Given the description of an element on the screen output the (x, y) to click on. 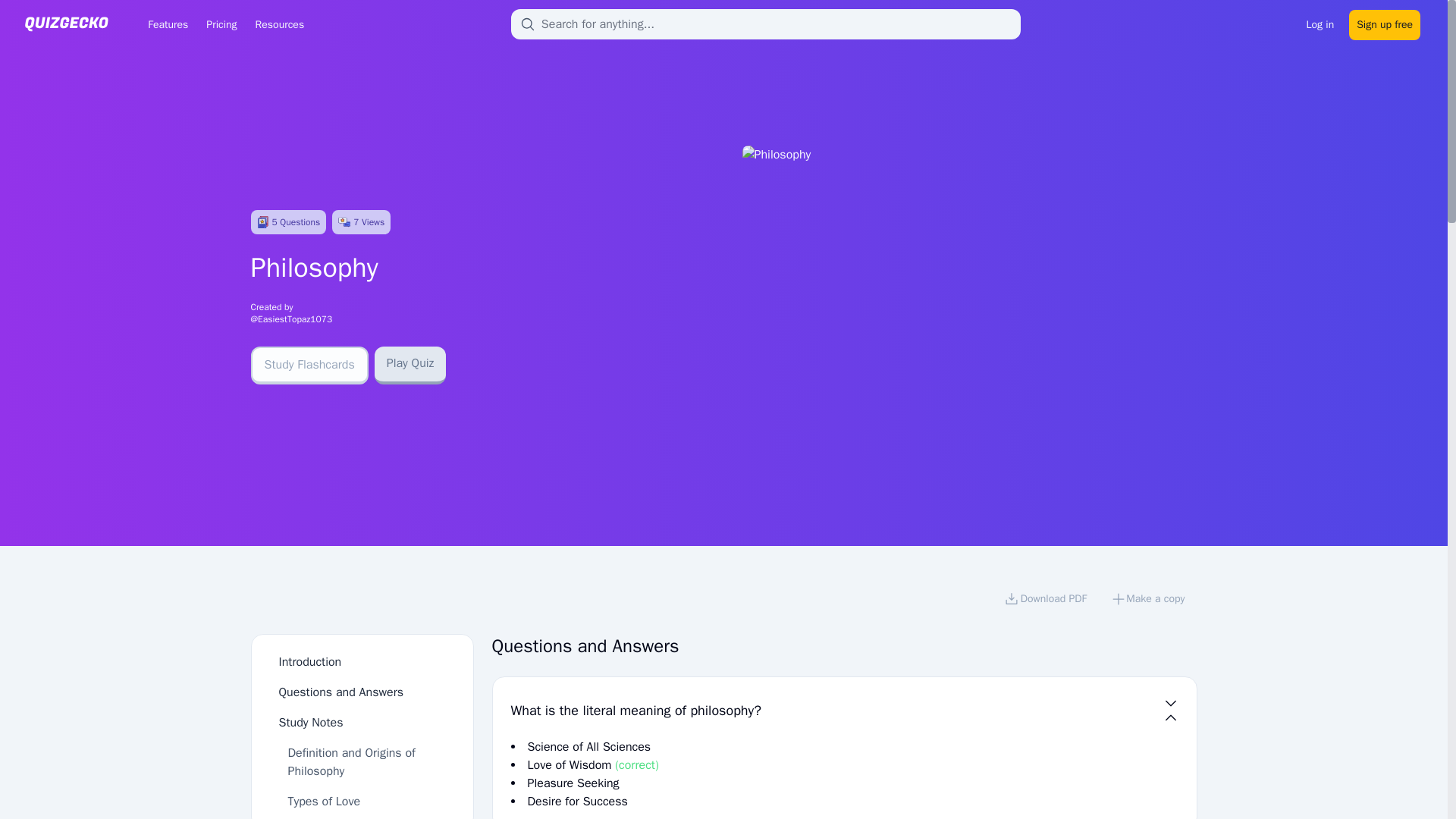
Sign up free (1384, 23)
Definition and Origins of Philosophy (351, 761)
Play Quiz (410, 365)
Questions and Answers (341, 692)
Make a copy (1147, 600)
Study Flashcards (309, 365)
Features (167, 23)
Resources (279, 23)
Download PDF (1045, 600)
Pricing (221, 23)
